Given the description of an element on the screen output the (x, y) to click on. 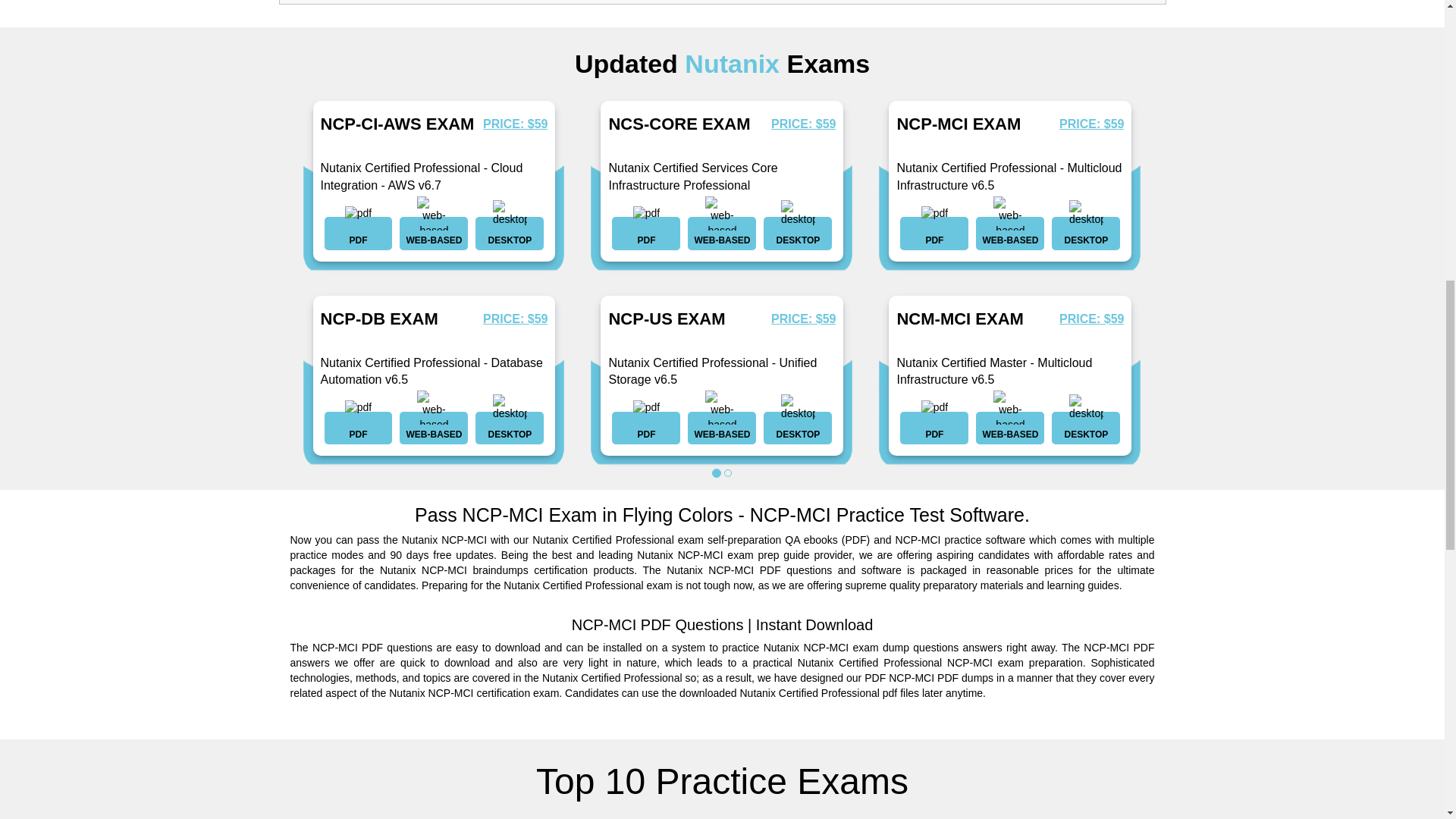
NCP-DB EXAM (379, 318)
NCS-CORE EXAM (678, 123)
NCP-US EXAM (666, 318)
NCP-CI-AWS EXAM (397, 123)
NCM-MCI EXAM (959, 318)
NCP-MCI EXAM (958, 123)
